Given the description of an element on the screen output the (x, y) to click on. 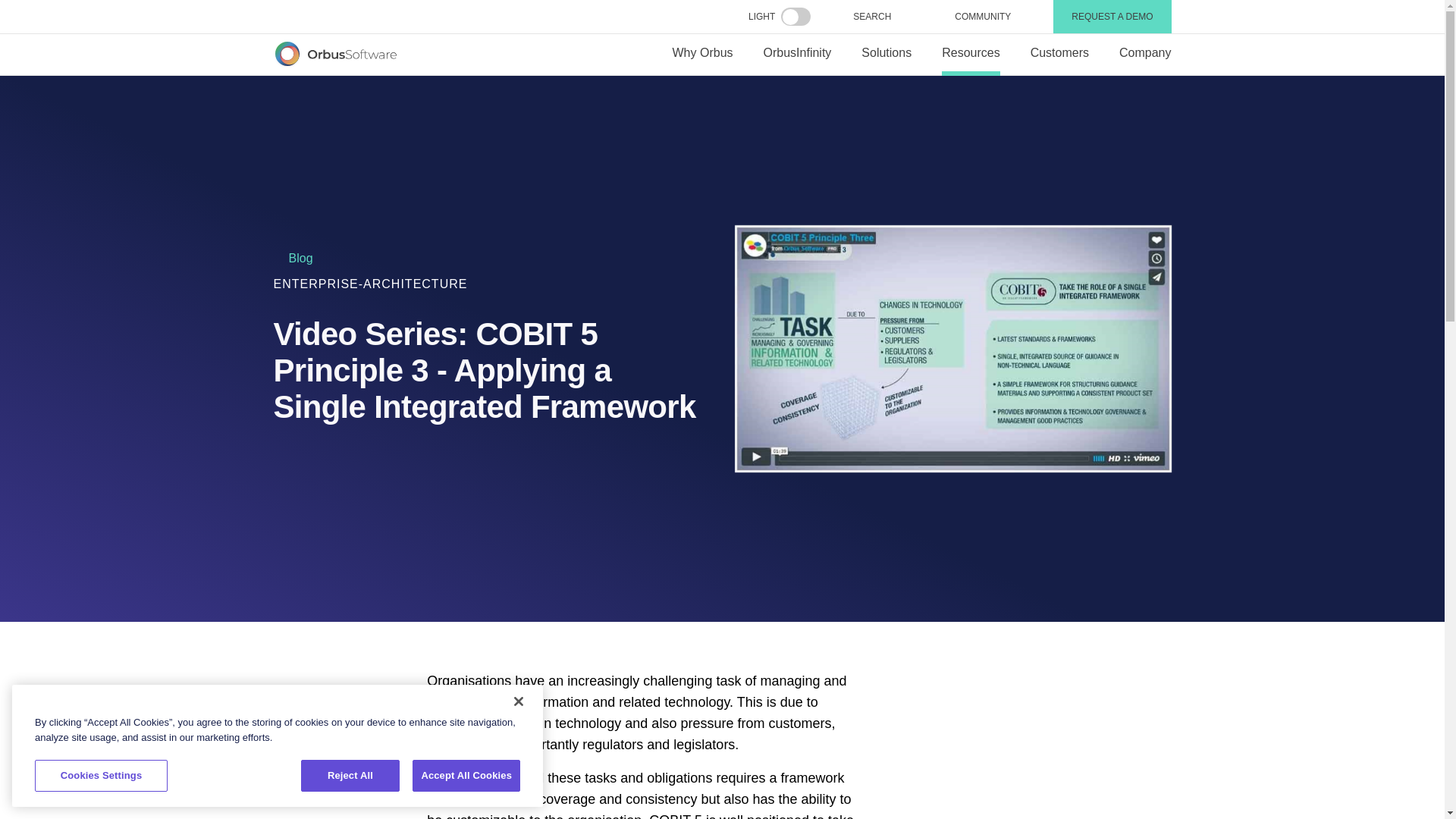
REQUEST A DEMO (1111, 16)
COMMUNITY (982, 16)
SEARCH (882, 16)
OrbusInfinity (797, 54)
Why Orbus (703, 54)
Solutions (885, 54)
